Given the description of an element on the screen output the (x, y) to click on. 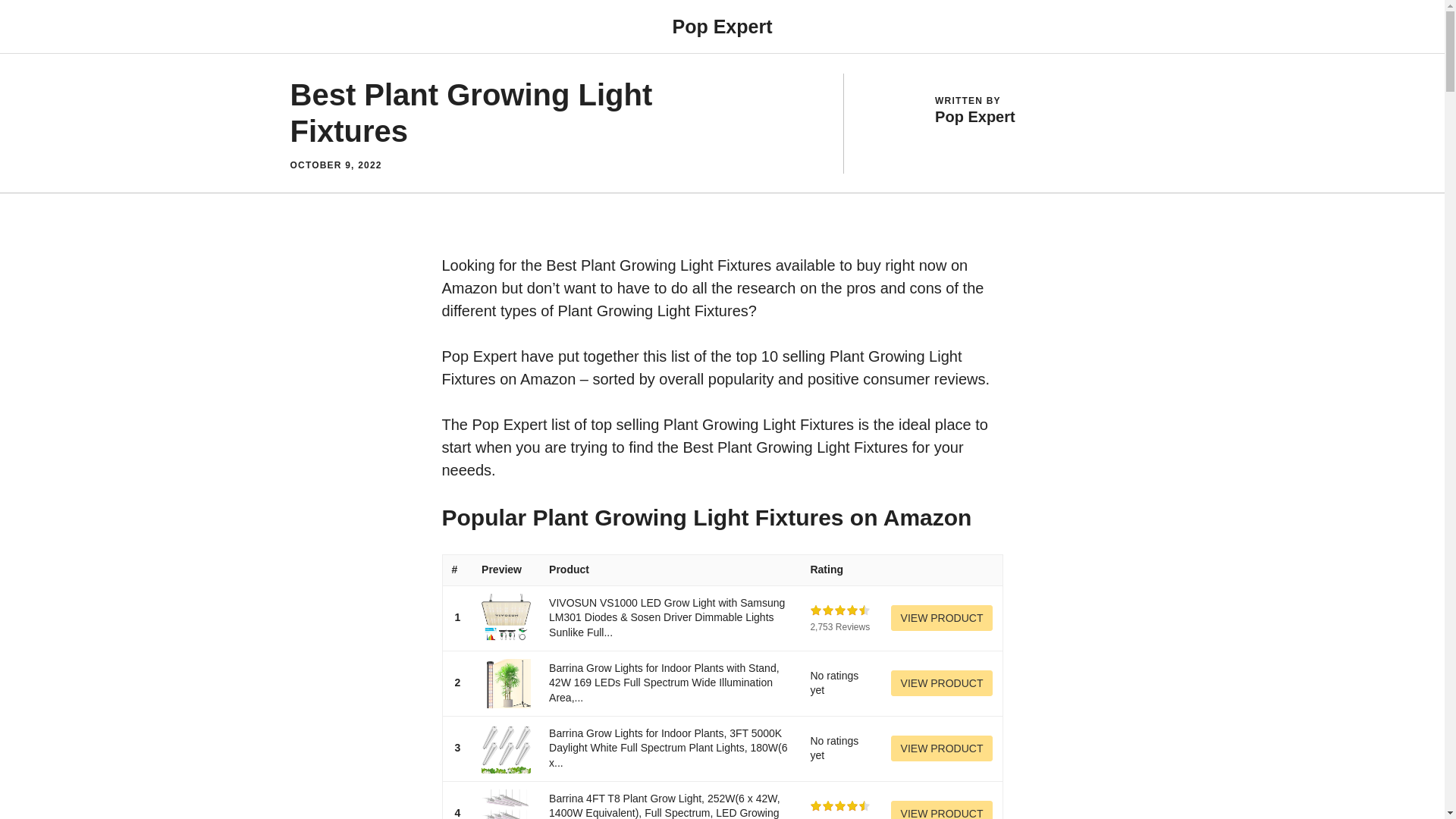
VIEW PRODUCT (941, 748)
Reviews on Amazon (839, 806)
VIEW PRODUCT (941, 683)
VIEW PRODUCT (941, 809)
VIEW PRODUCT (941, 617)
VIEW PRODUCT (941, 748)
VIEW PRODUCT (941, 617)
Reviews on Amazon (839, 610)
Pop Expert (721, 25)
